Given the description of an element on the screen output the (x, y) to click on. 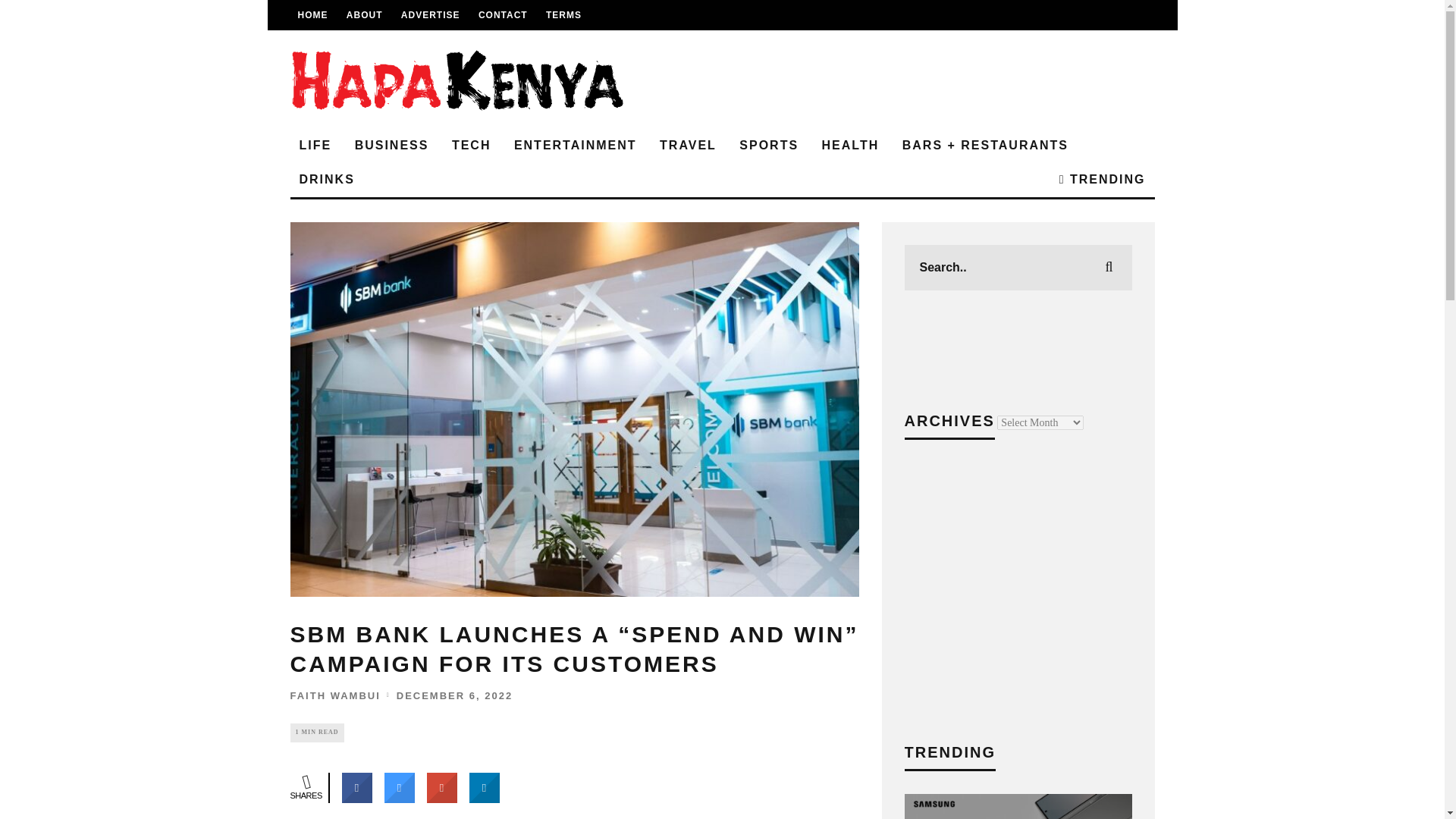
LIFE (314, 145)
TERMS (563, 15)
ABOUT (364, 15)
Log In (721, 445)
CONTACT (503, 15)
ADVERTISE (430, 15)
BUSINESS (392, 145)
HOME (312, 15)
